Given the description of an element on the screen output the (x, y) to click on. 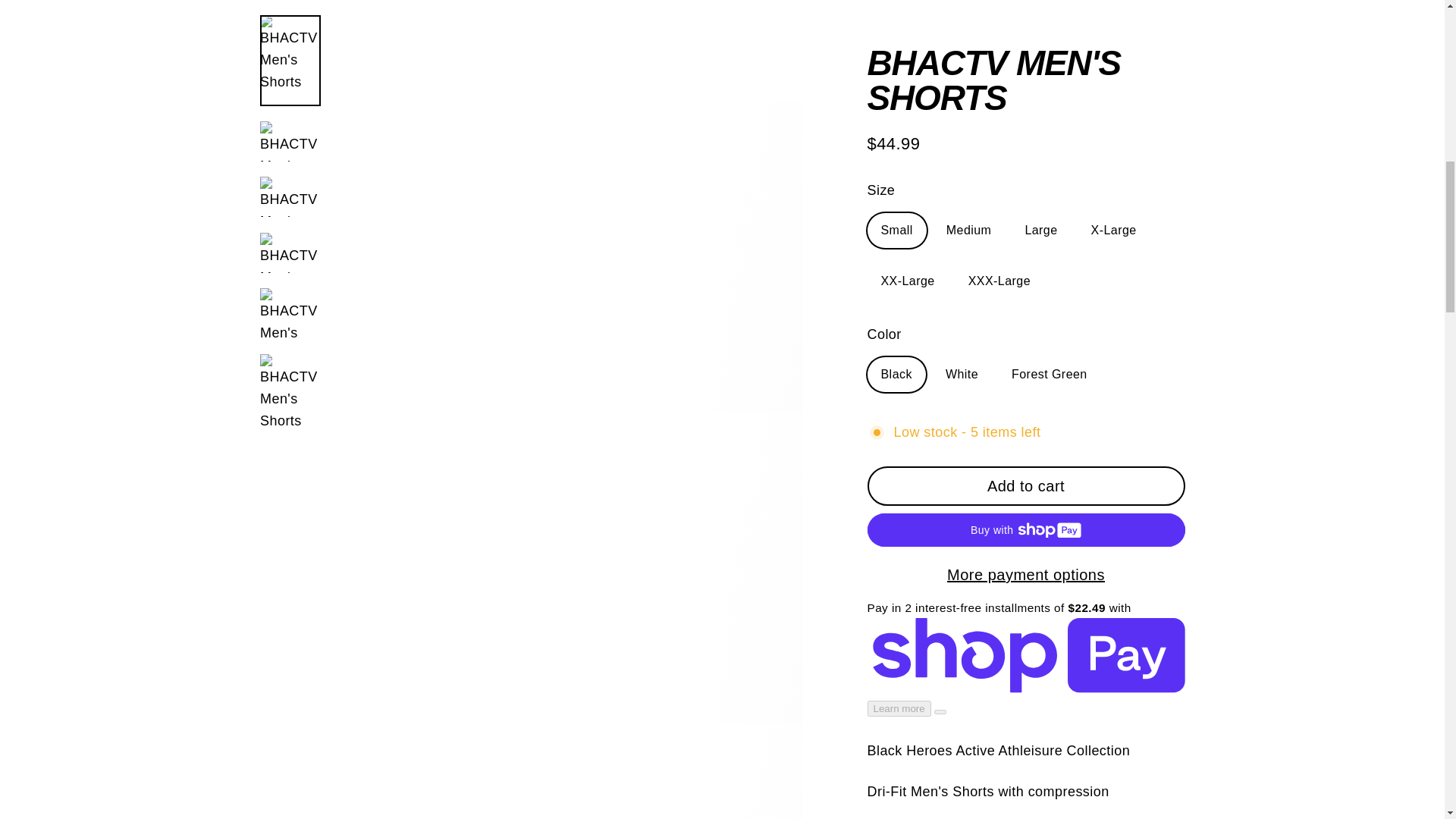
Share on Facebook (1104, 541)
Tweet on Twitter (949, 541)
MENU (1028, 541)
Shipping information (162, 46)
Ask a question (1026, 418)
Pin on Pinterest (1026, 471)
